Given the description of an element on the screen output the (x, y) to click on. 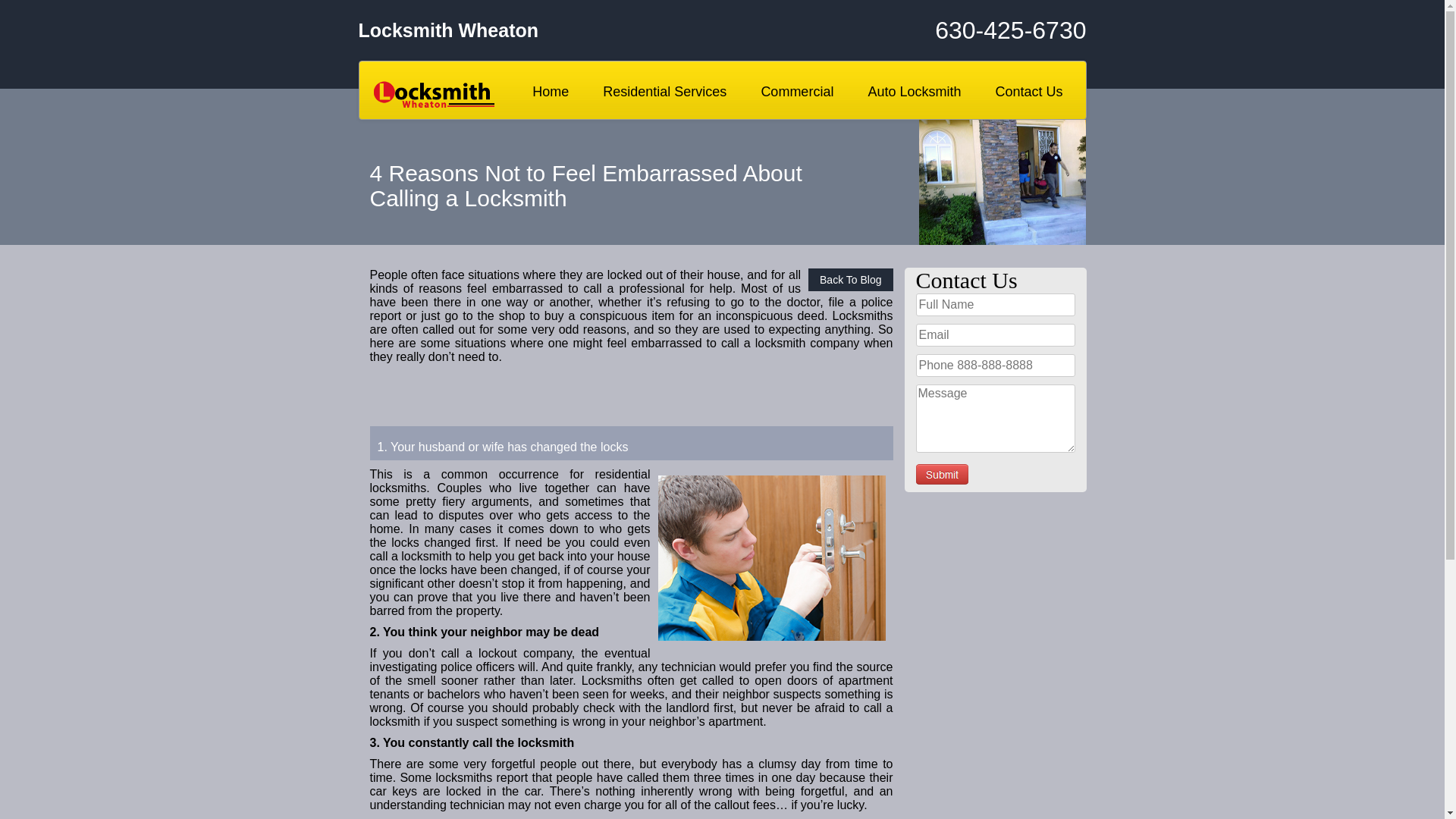
Commercial Element type: text (796, 91)
Home Element type: text (550, 91)
Auto Locksmith Element type: text (914, 91)
Residential Services Element type: text (664, 91)
4 Reasons Not to Feel Embarrassed About Calling a Locksmith Element type: hover (771, 557)
Contact Us Element type: text (1028, 91)
630-425-6730 Element type: text (964, 30)
Back To Blog Element type: text (850, 279)
  Element type: text (942, 474)
